Given the description of an element on the screen output the (x, y) to click on. 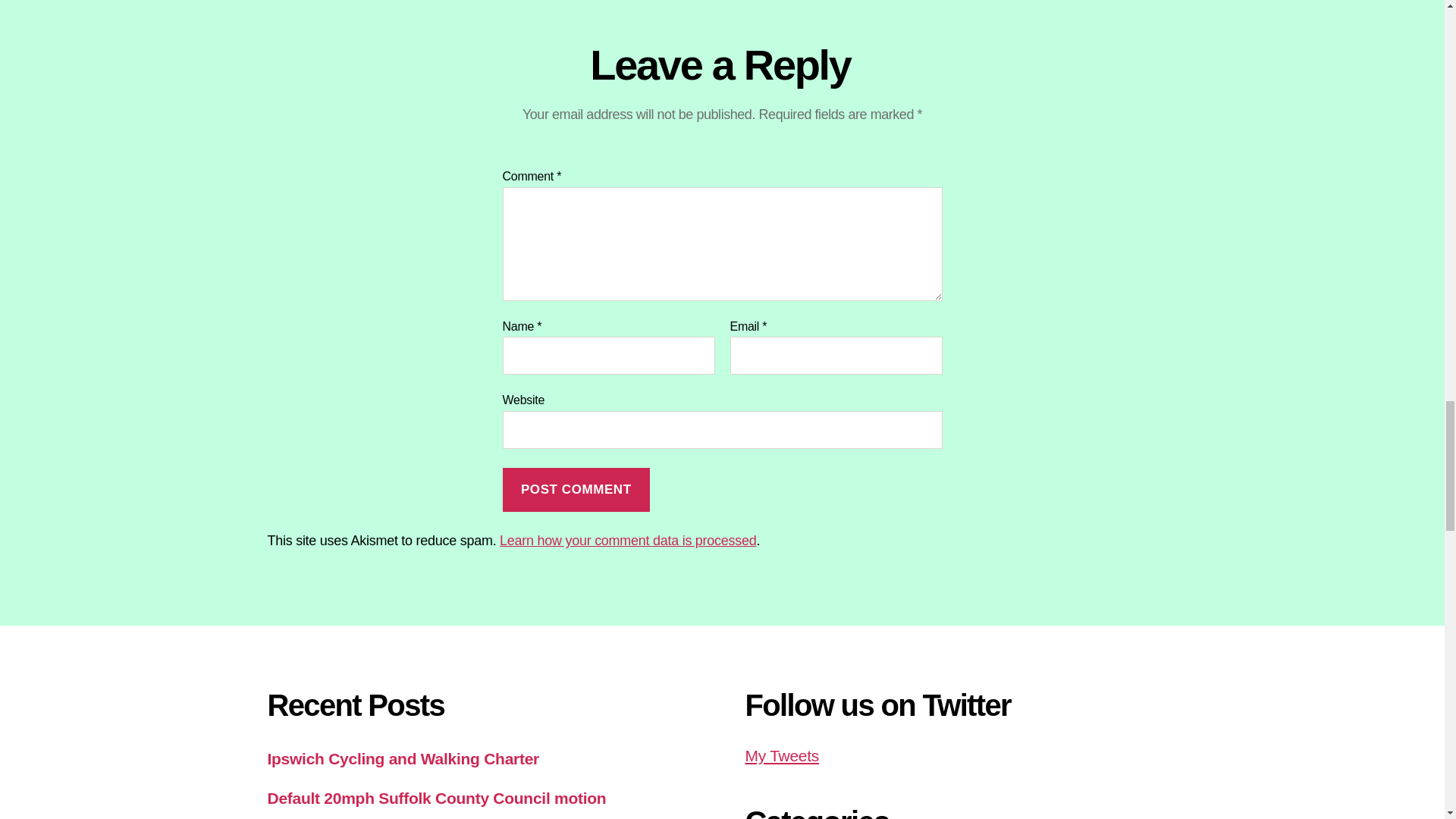
Post Comment (575, 489)
